Given the description of an element on the screen output the (x, y) to click on. 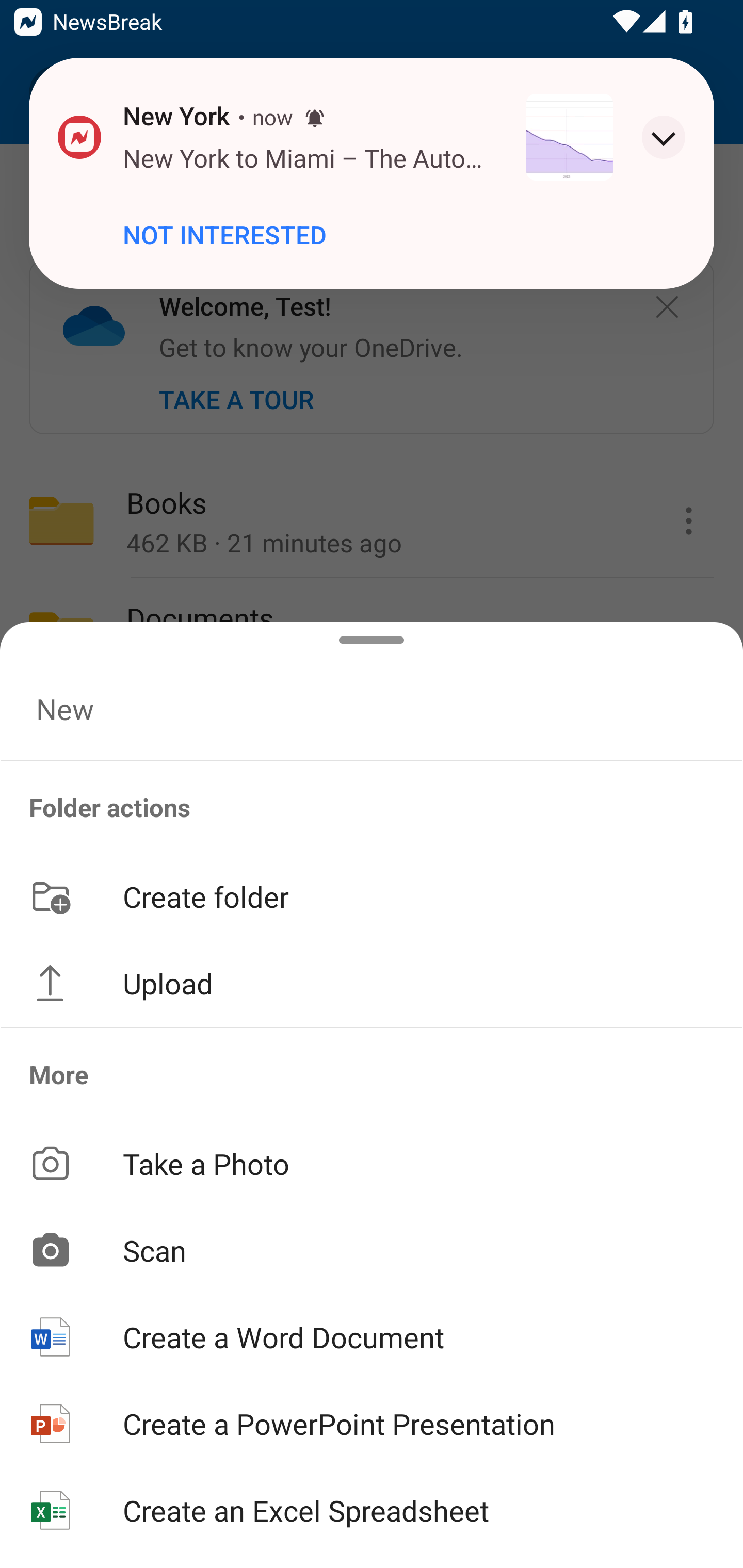
Create folder button Create folder (371, 895)
Upload button Upload (371, 983)
Take a Photo button Take a Photo (371, 1163)
Scan button Scan (371, 1250)
